Given the description of an element on the screen output the (x, y) to click on. 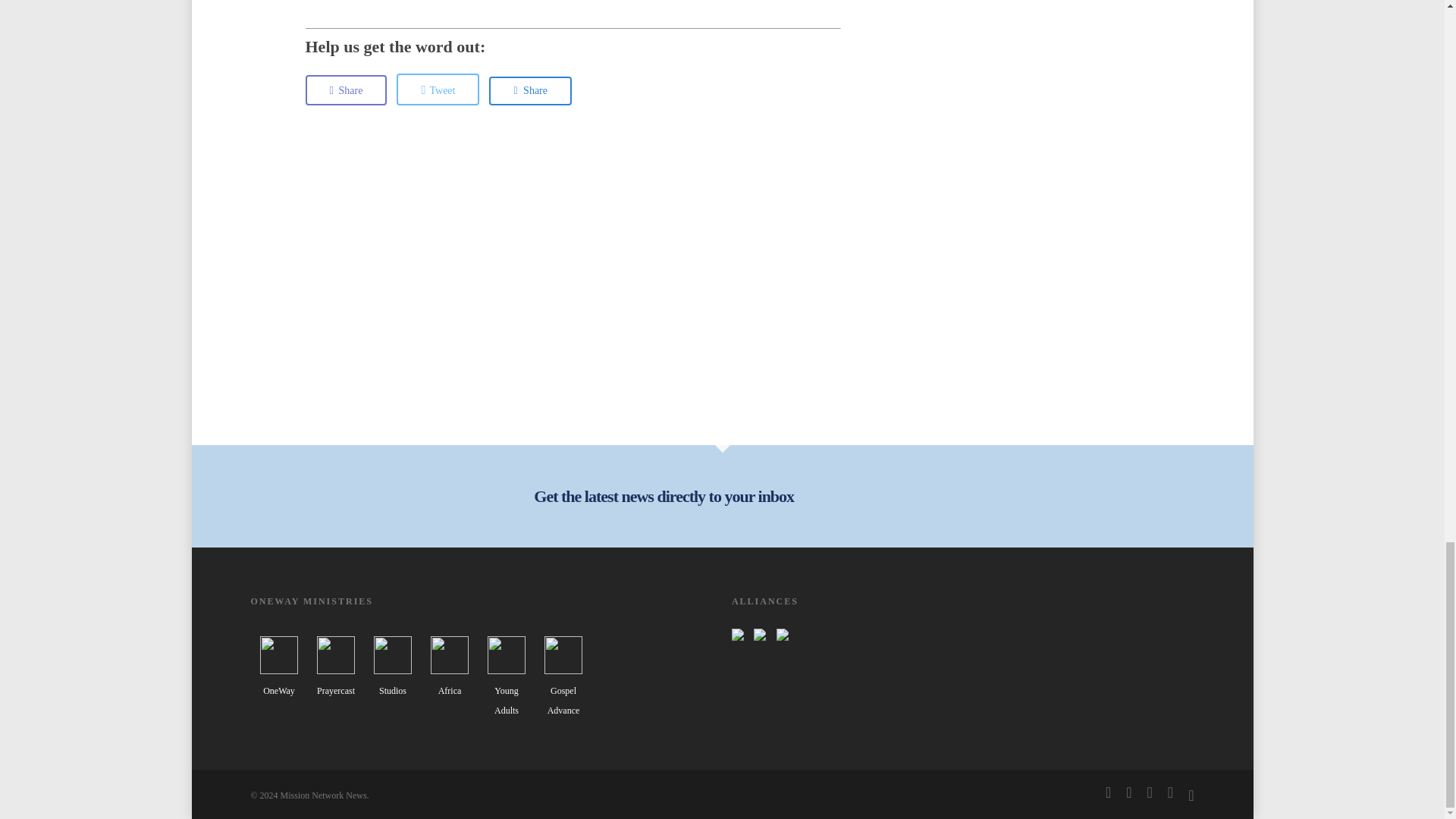
Share this (530, 90)
Tweet this (437, 89)
Share this (345, 90)
